Given the description of an element on the screen output the (x, y) to click on. 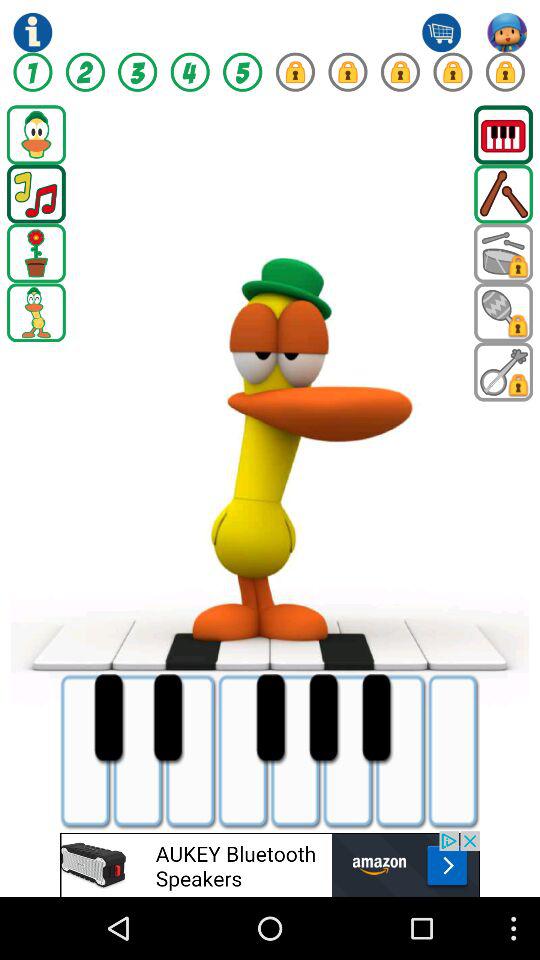
lock the option (295, 71)
